Given the description of an element on the screen output the (x, y) to click on. 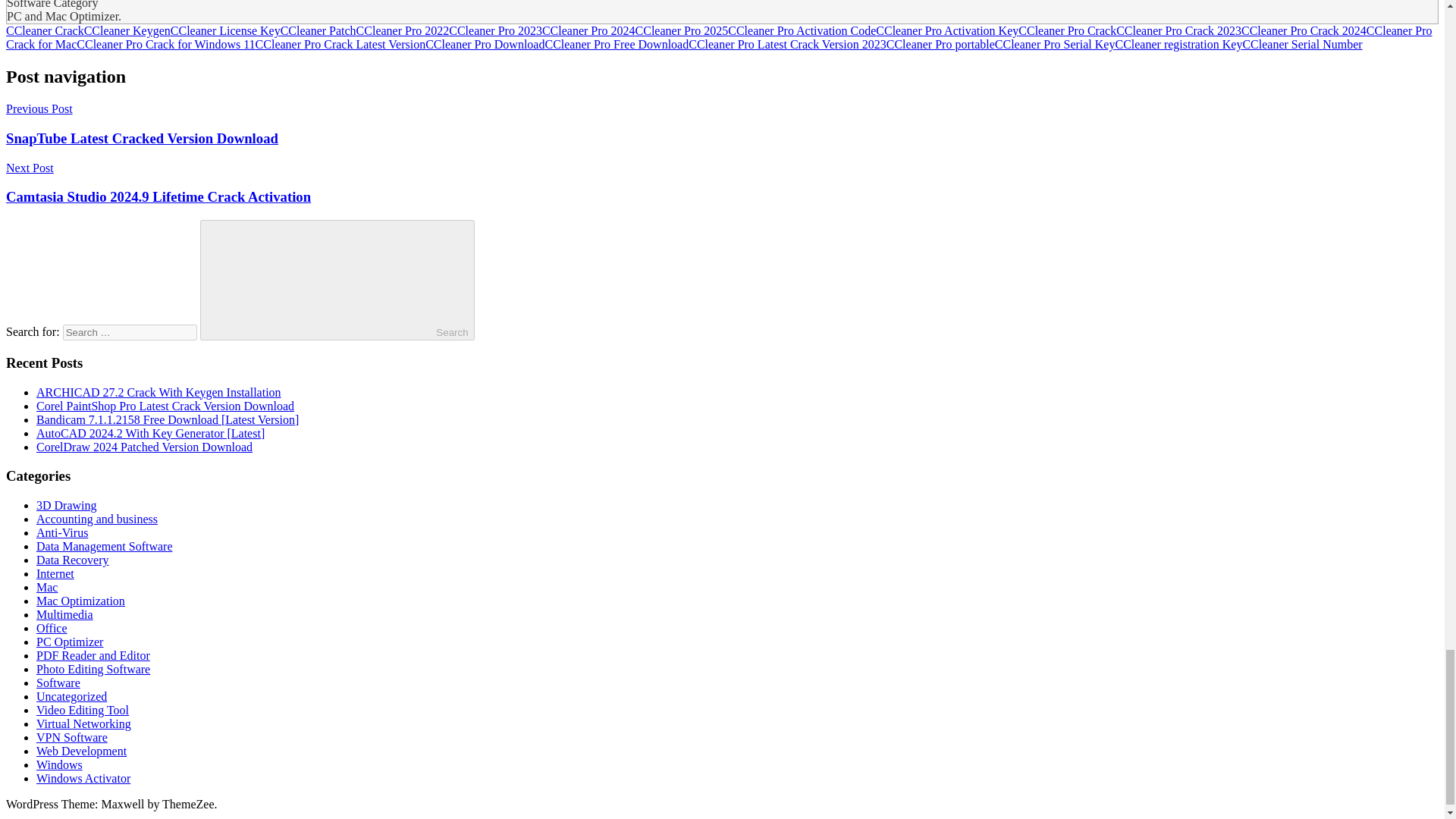
CCleaner License Key (225, 30)
CCleaner Crack (44, 30)
CCleaner Keygen (127, 30)
Search for: (129, 332)
